Given the description of an element on the screen output the (x, y) to click on. 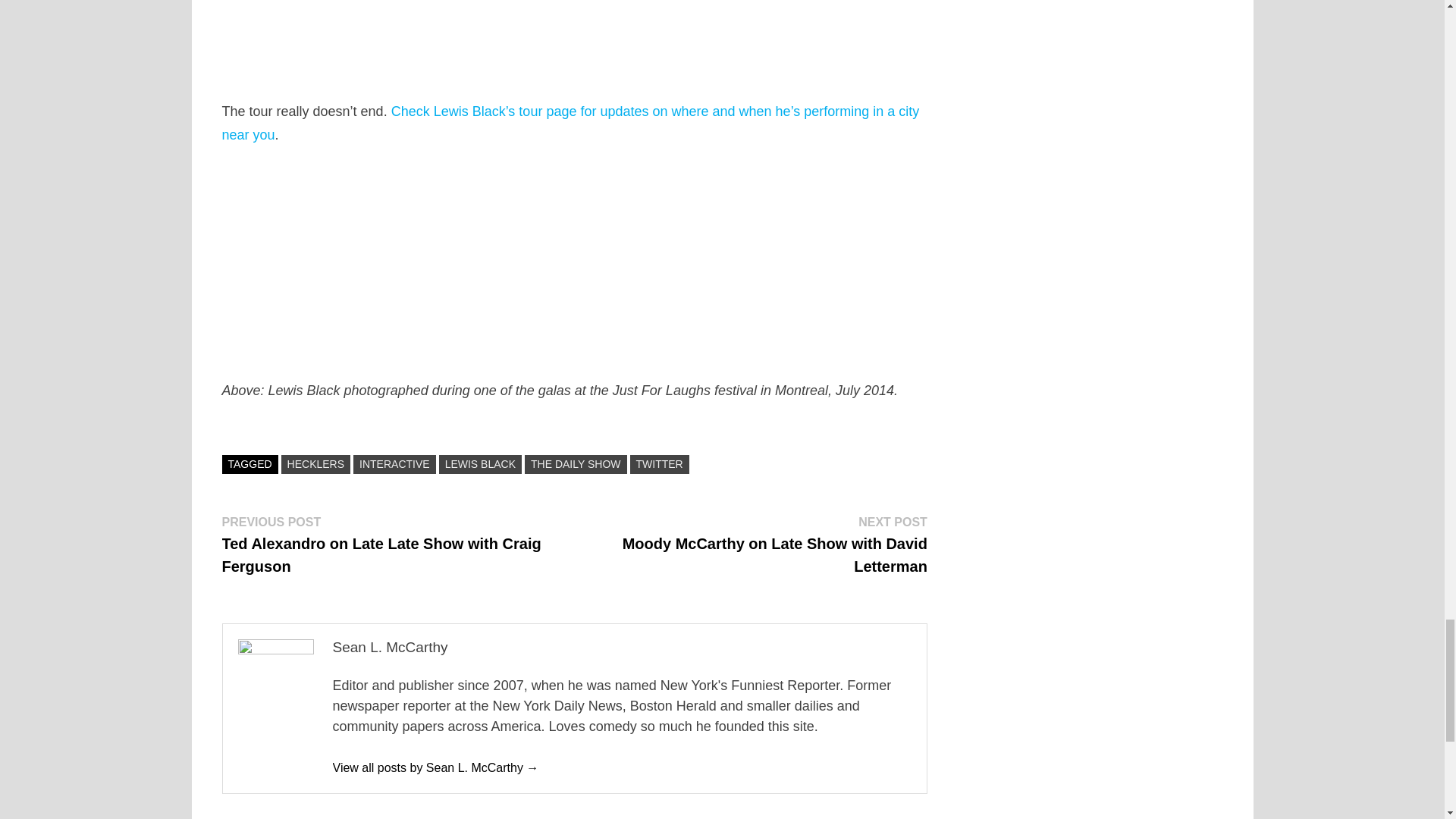
Sean L. McCarthy (434, 767)
HECKLERS (315, 464)
THE DAILY SHOW (575, 464)
INTERACTIVE (394, 464)
LEWIS BLACK (480, 464)
TWITTER (659, 464)
